Given the description of an element on the screen output the (x, y) to click on. 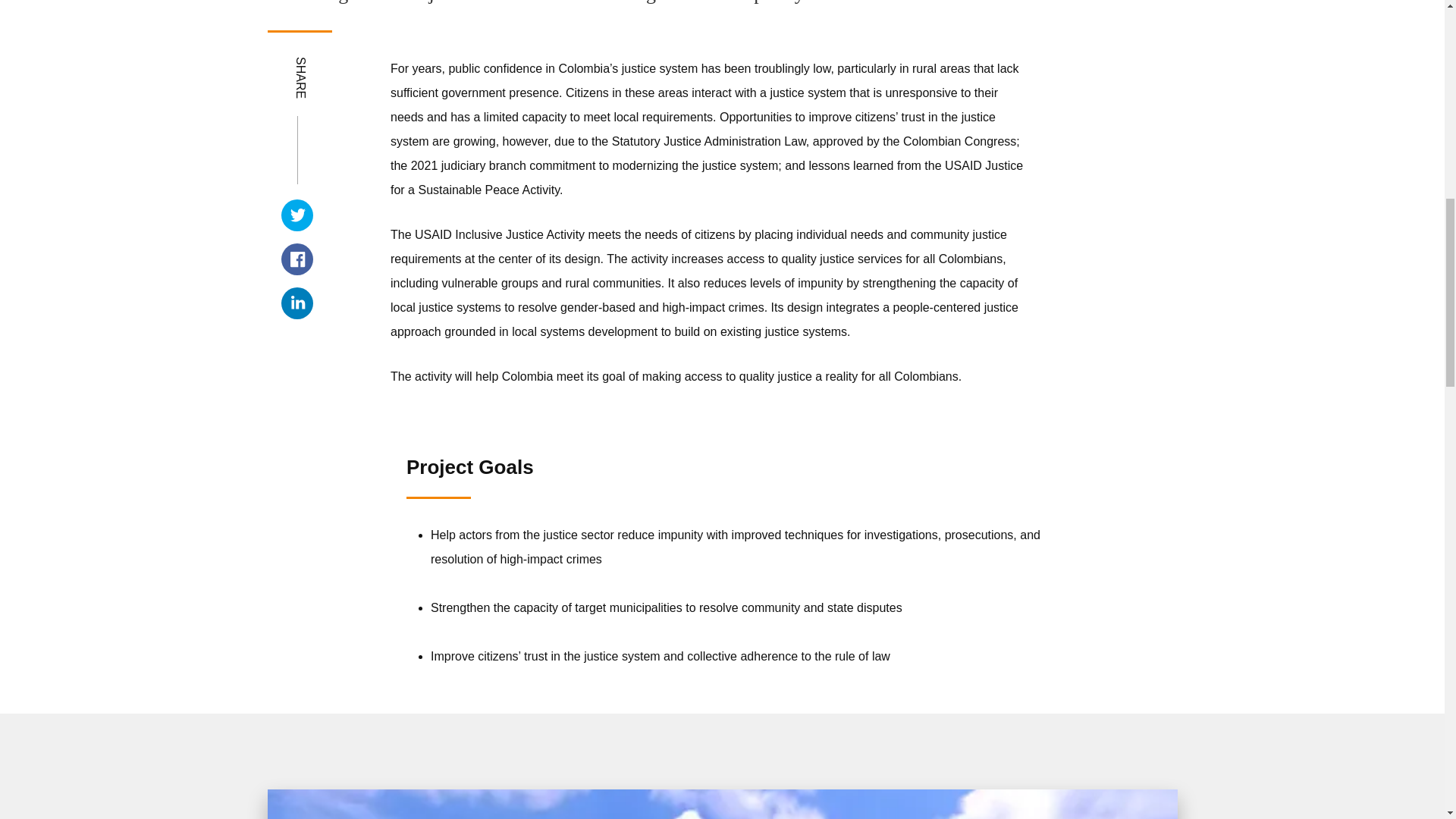
LinkedIn (296, 303)
Facebook (296, 259)
Twitter (296, 214)
